Given the description of an element on the screen output the (x, y) to click on. 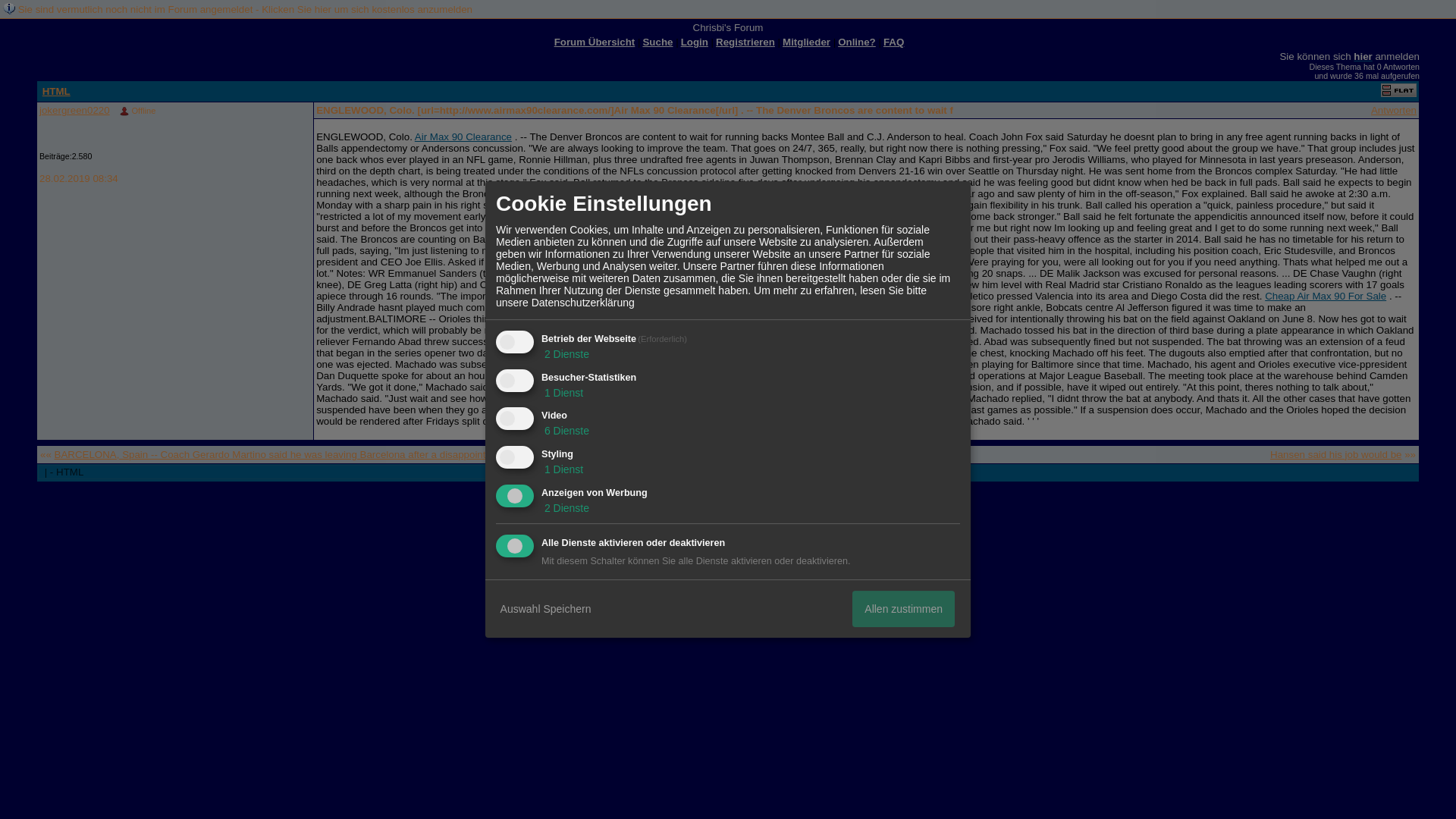
Login (694, 41)
jokergreen0220 (74, 110)
Erstelle ein eigenes Forum mit Xobor (735, 504)
Cheap Air Max 90 For Sale (1325, 296)
2 Dienste (565, 508)
Cheap Air Max 90 China (700, 375)
Hansen said his job would be (1334, 454)
Sprung (541, 473)
Suche (657, 41)
6 Dienste (565, 430)
1 Dienst (562, 392)
Online? (857, 41)
1 Dienst (562, 469)
